Given the description of an element on the screen output the (x, y) to click on. 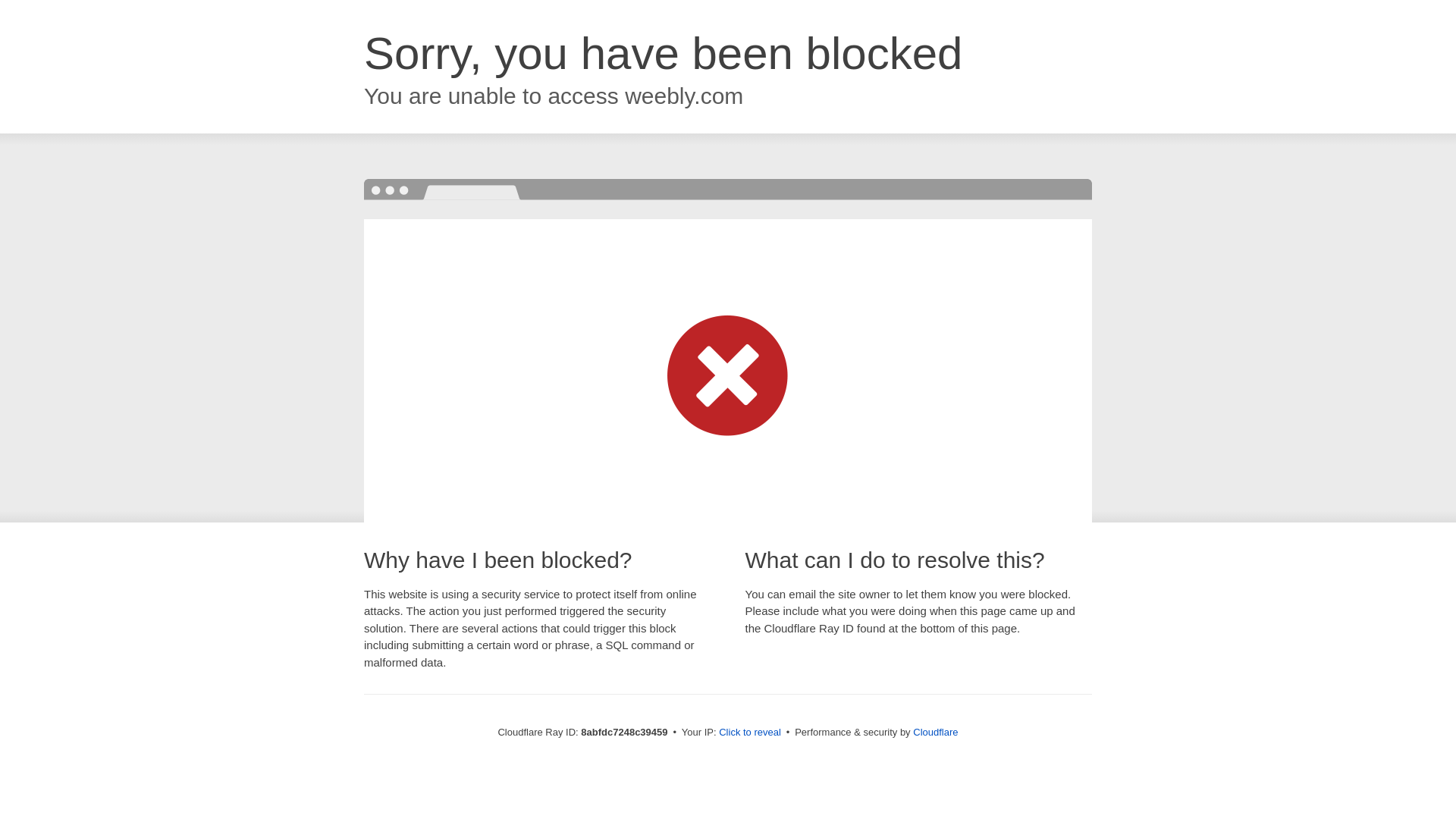
Click to reveal (749, 732)
Cloudflare (935, 731)
